Given the description of an element on the screen output the (x, y) to click on. 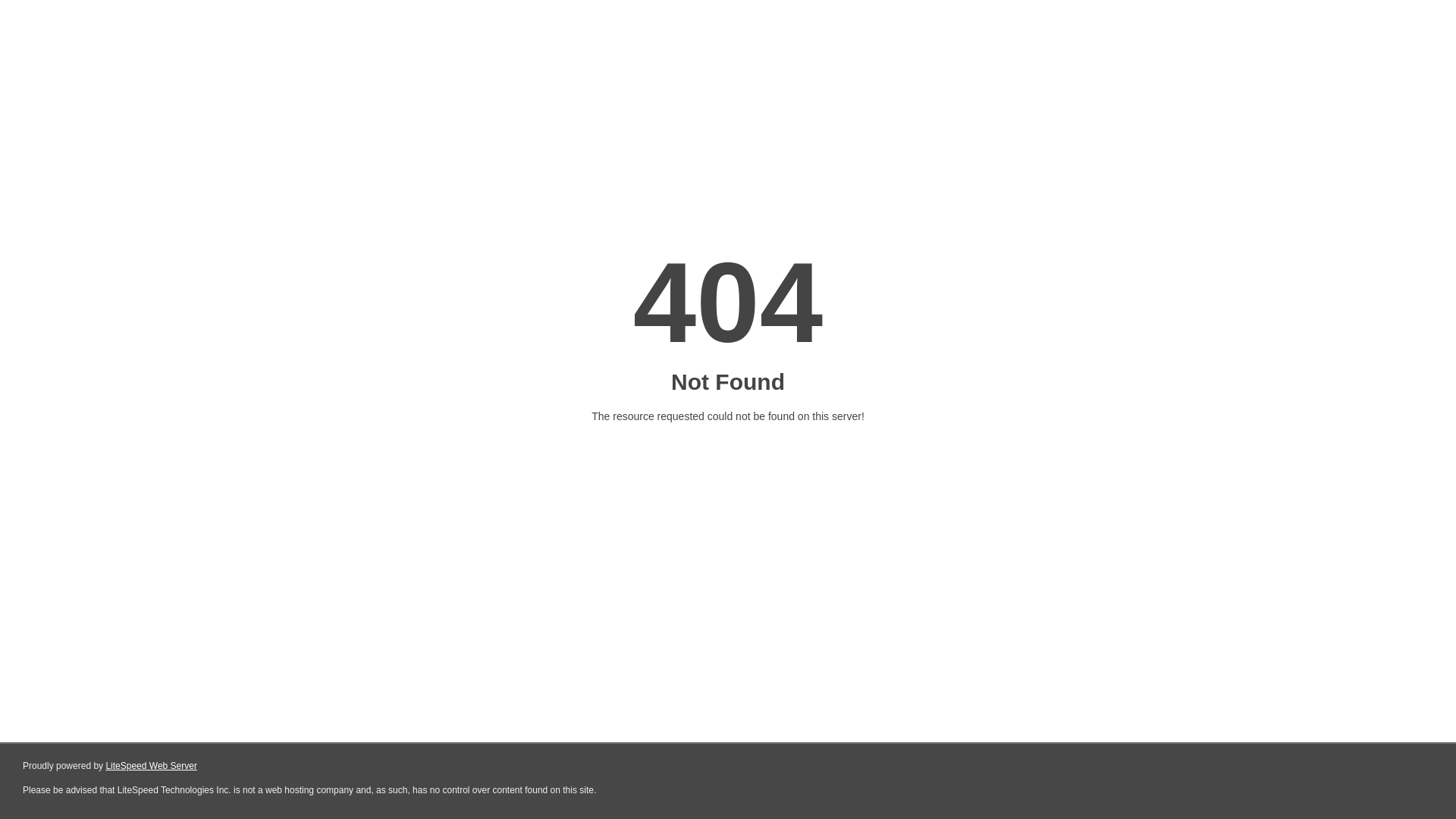
LiteSpeed Web Server Element type: text (151, 765)
